Given the description of an element on the screen output the (x, y) to click on. 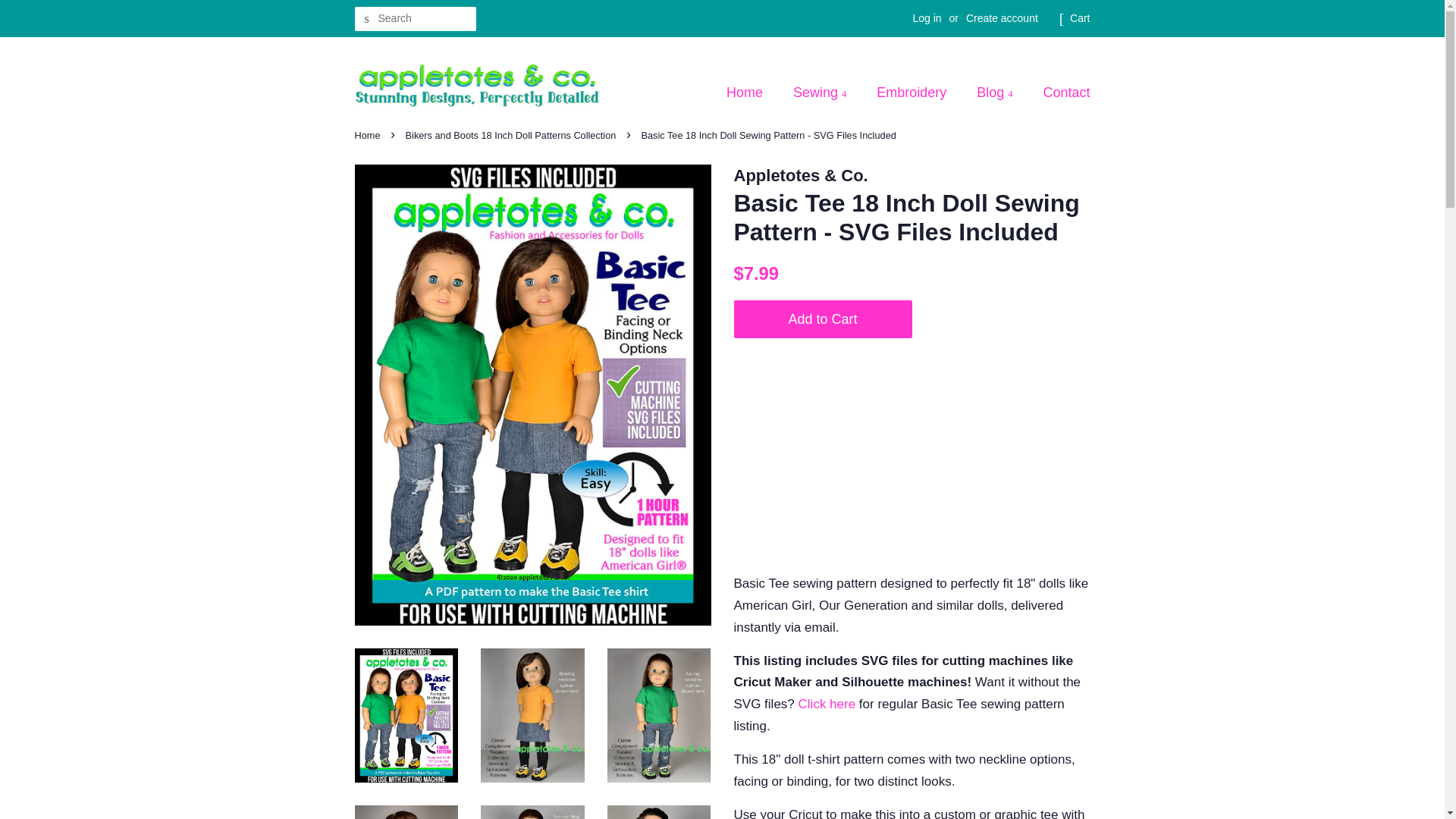
Log in (927, 18)
Sewing (821, 92)
Embroidery (912, 92)
Search (366, 18)
Create account (1002, 18)
Cart (1079, 18)
Back to the frontpage (369, 134)
Home (751, 92)
